Given the description of an element on the screen output the (x, y) to click on. 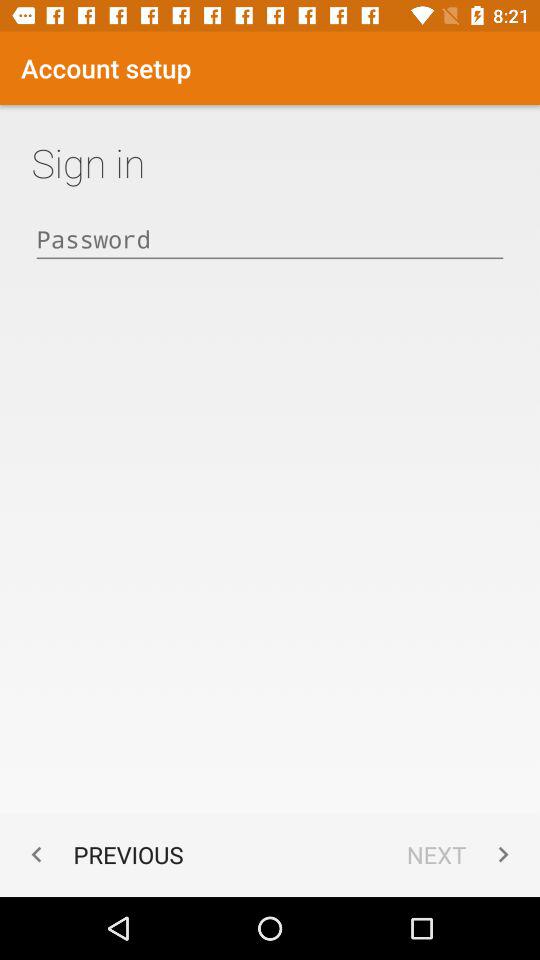
turn on the item at the bottom right corner (462, 854)
